Given the description of an element on the screen output the (x, y) to click on. 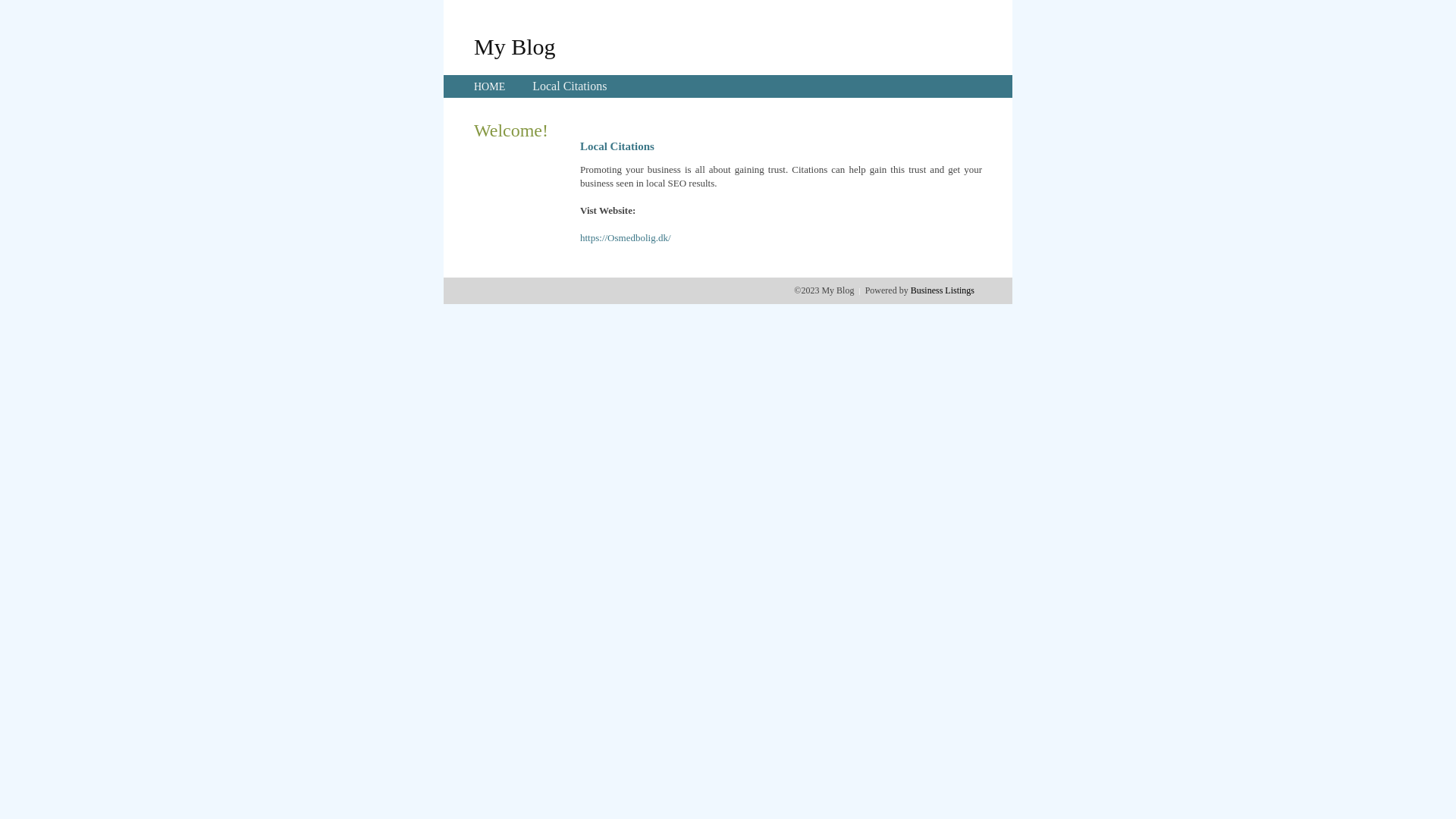
My Blog Element type: text (514, 46)
HOME Element type: text (489, 86)
Business Listings Element type: text (942, 290)
https://Osmedbolig.dk/ Element type: text (625, 237)
Local Citations Element type: text (569, 85)
